Given the description of an element on the screen output the (x, y) to click on. 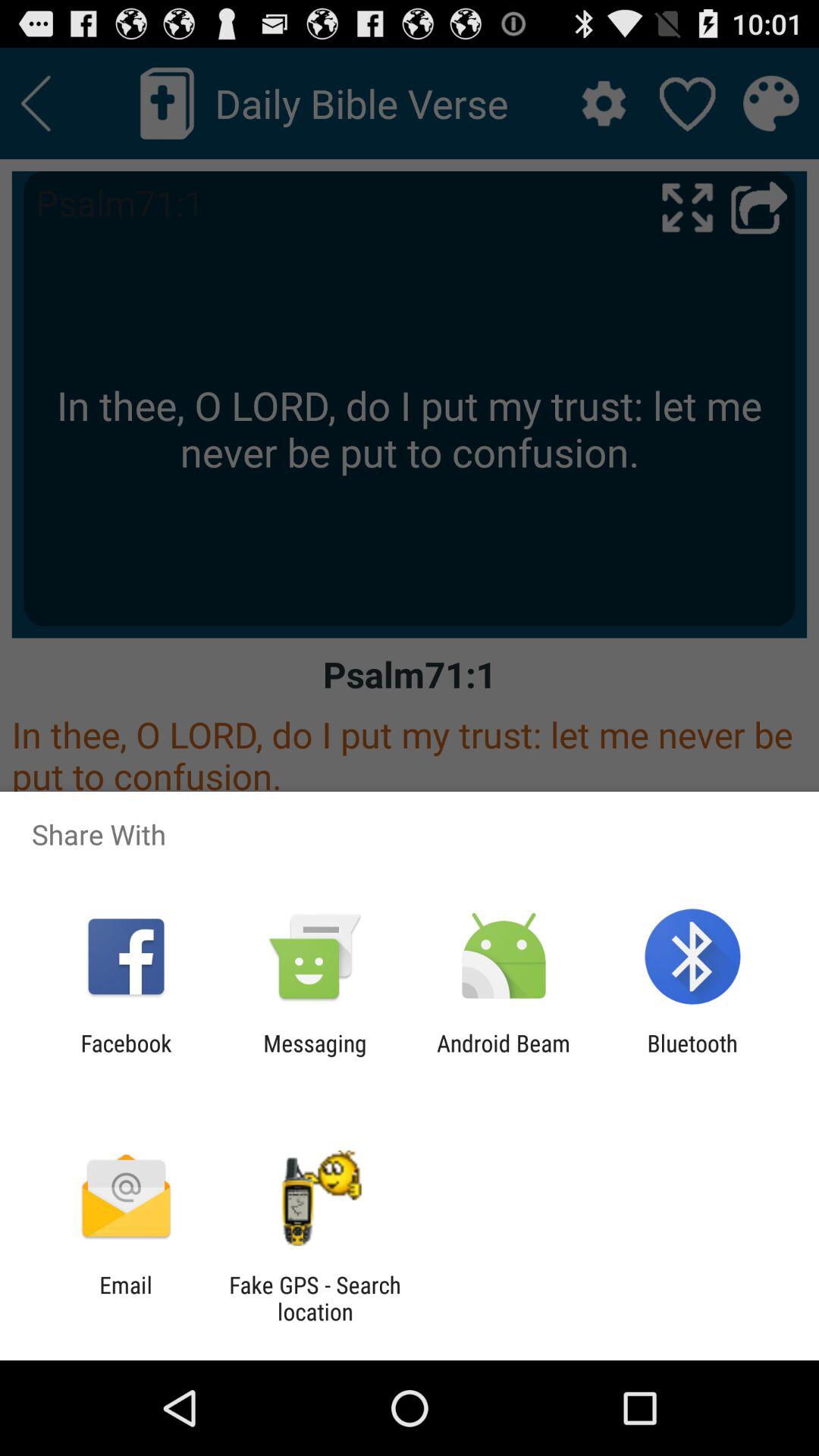
tap the bluetooth (692, 1056)
